Given the description of an element on the screen output the (x, y) to click on. 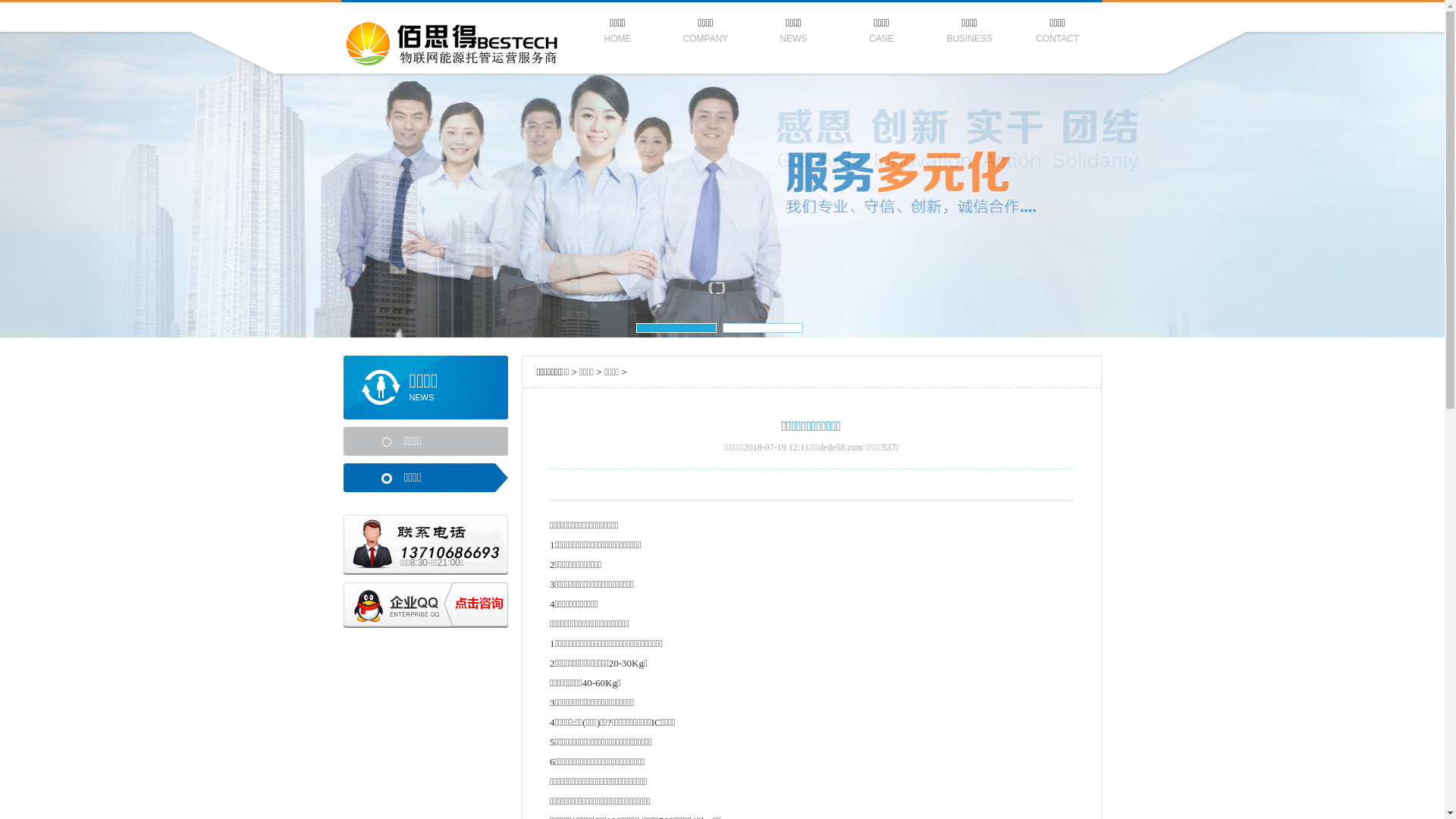
2 Element type: text (761, 327)
1 Element type: text (675, 327)
